Given the description of an element on the screen output the (x, y) to click on. 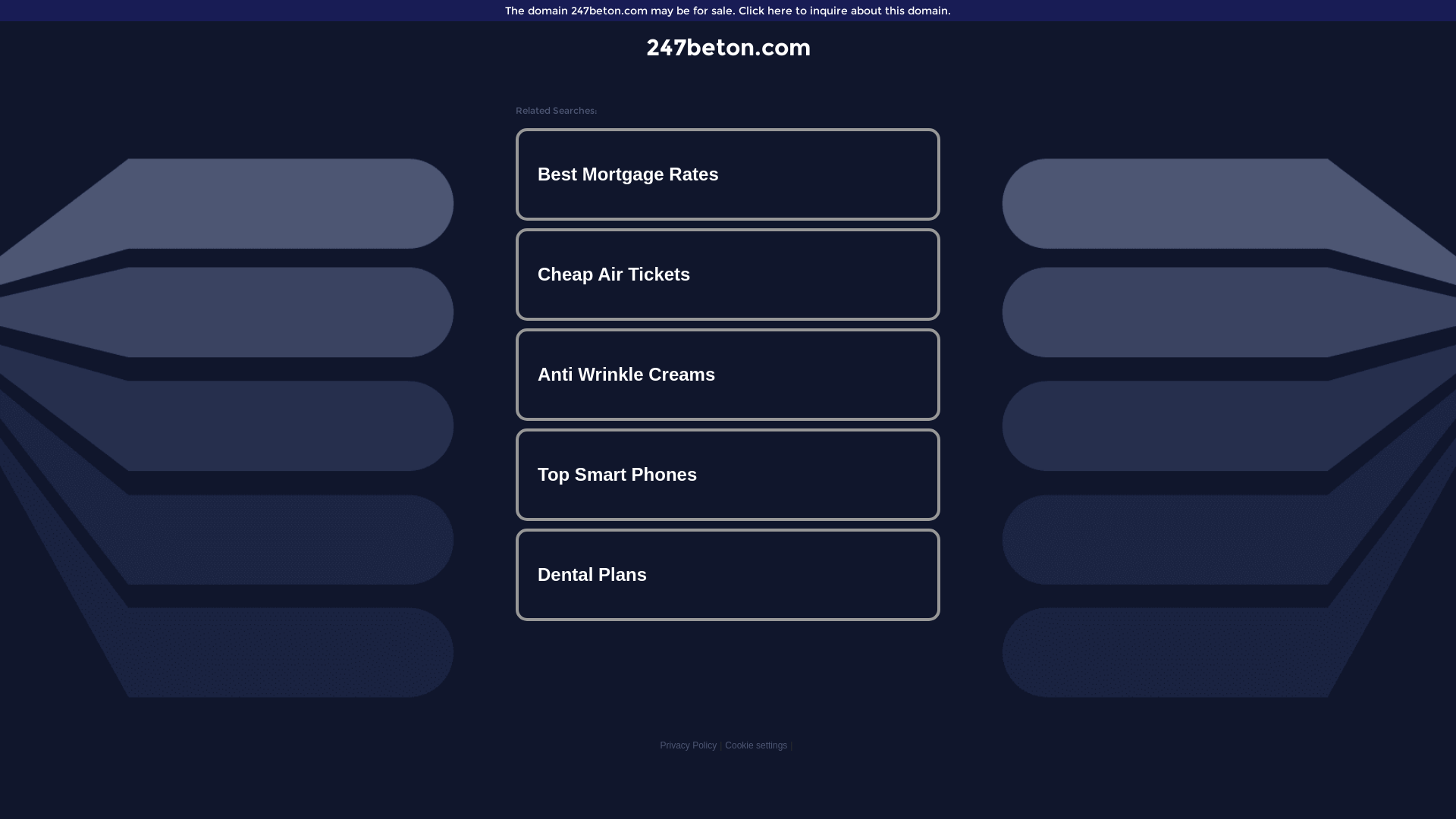
Privacy Policy Element type: text (687, 745)
Cheap Air Tickets Element type: text (727, 274)
Top Smart Phones Element type: text (727, 474)
247beton.com Element type: text (728, 47)
Best Mortgage Rates Element type: text (727, 174)
Dental Plans Element type: text (727, 574)
Anti Wrinkle Creams Element type: text (727, 374)
Cookie settings Element type: text (755, 745)
